Given the description of an element on the screen output the (x, y) to click on. 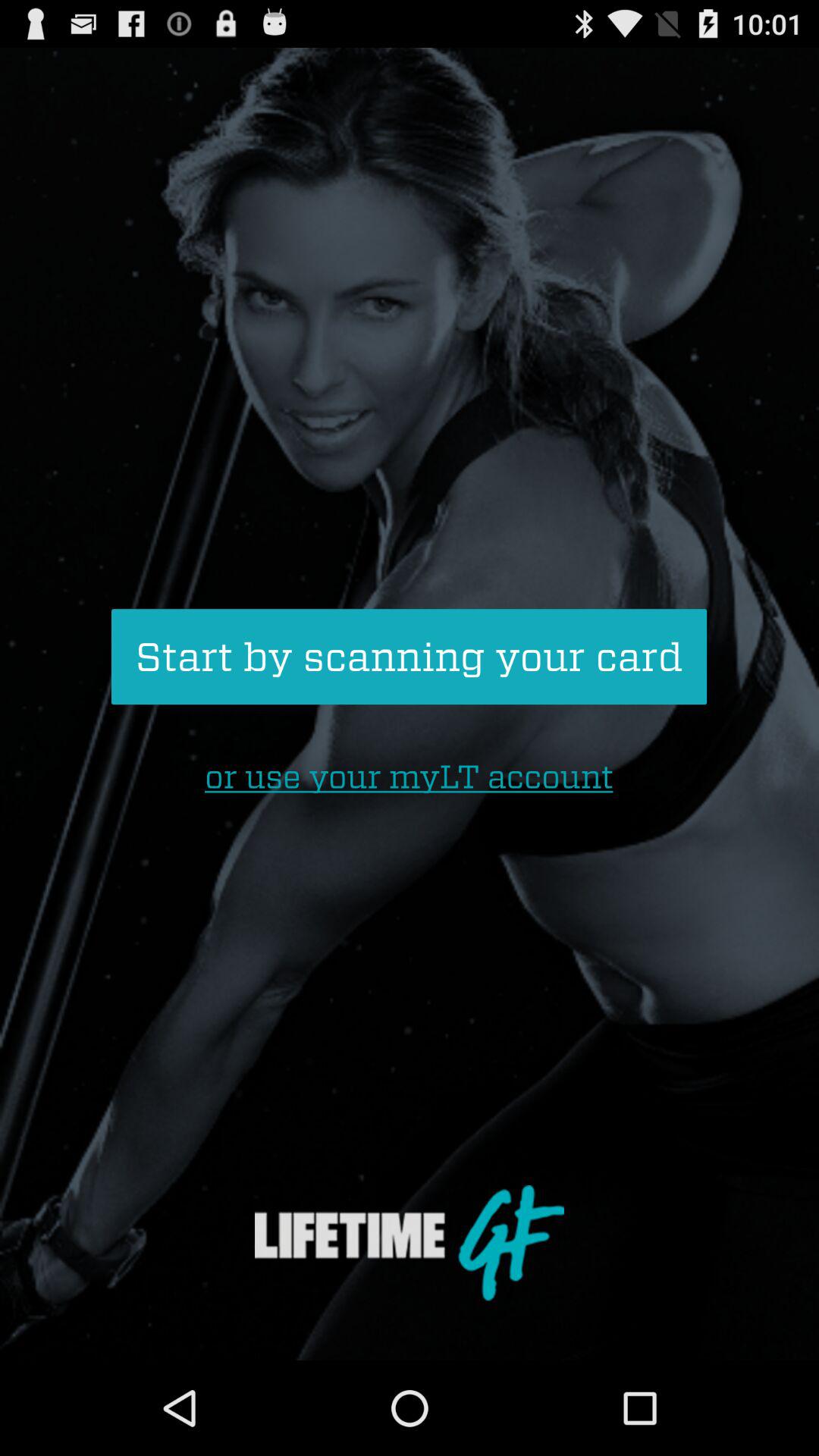
scroll to or use your (408, 776)
